Given the description of an element on the screen output the (x, y) to click on. 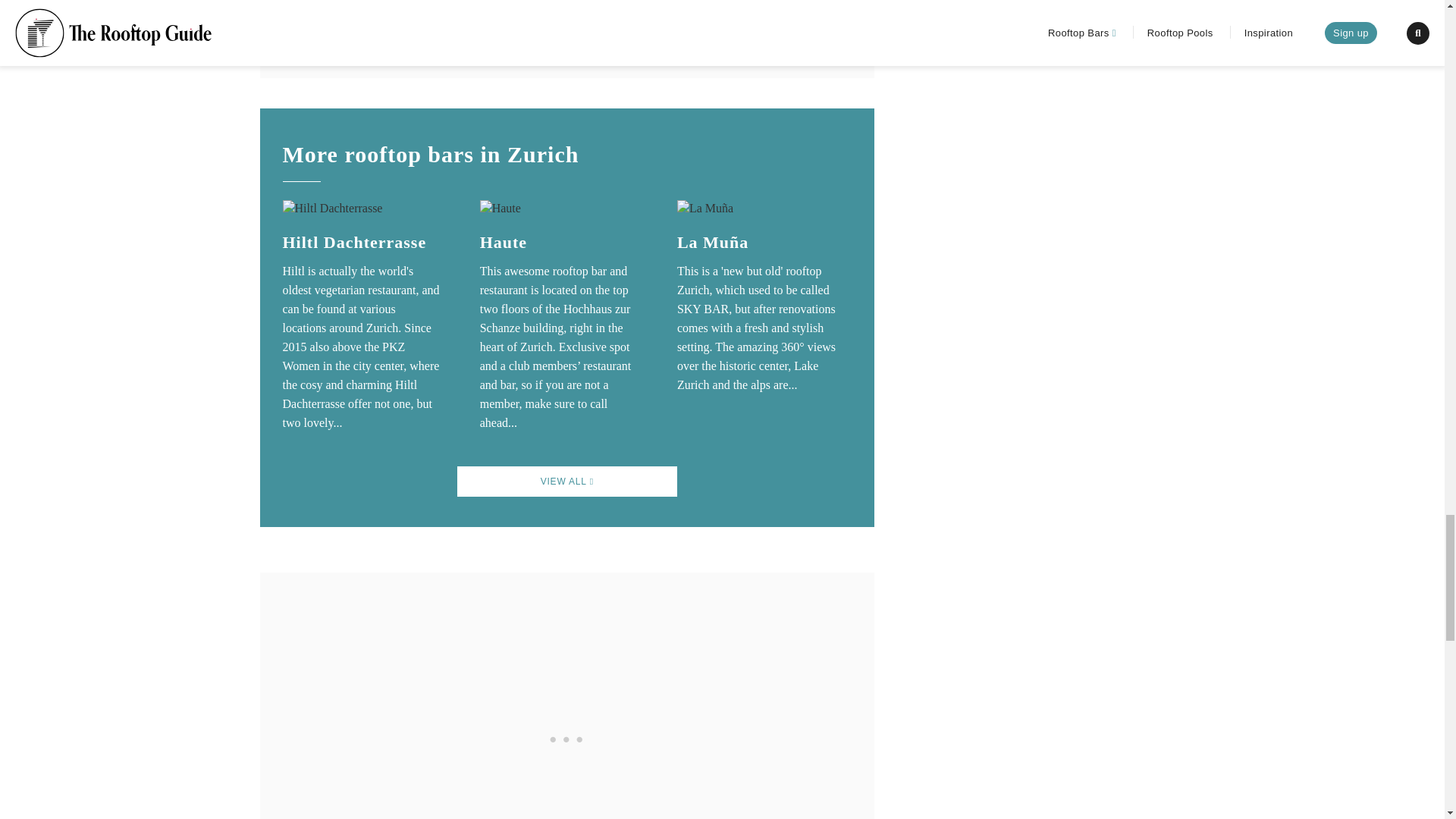
Haute (503, 241)
Hiltl Dachterrasse (354, 241)
